Given the description of an element on the screen output the (x, y) to click on. 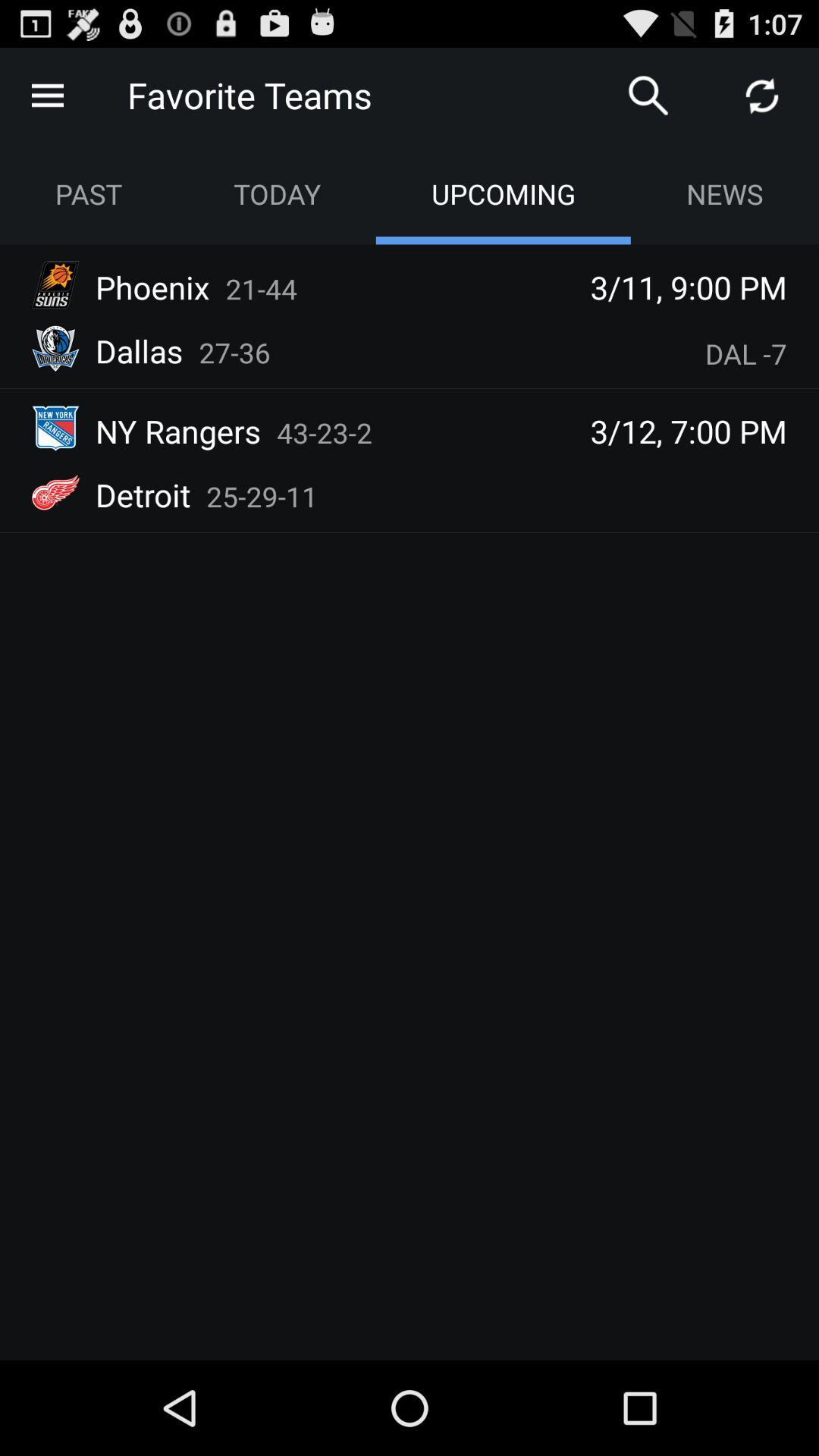
jump until 27-36 app (234, 352)
